Given the description of an element on the screen output the (x, y) to click on. 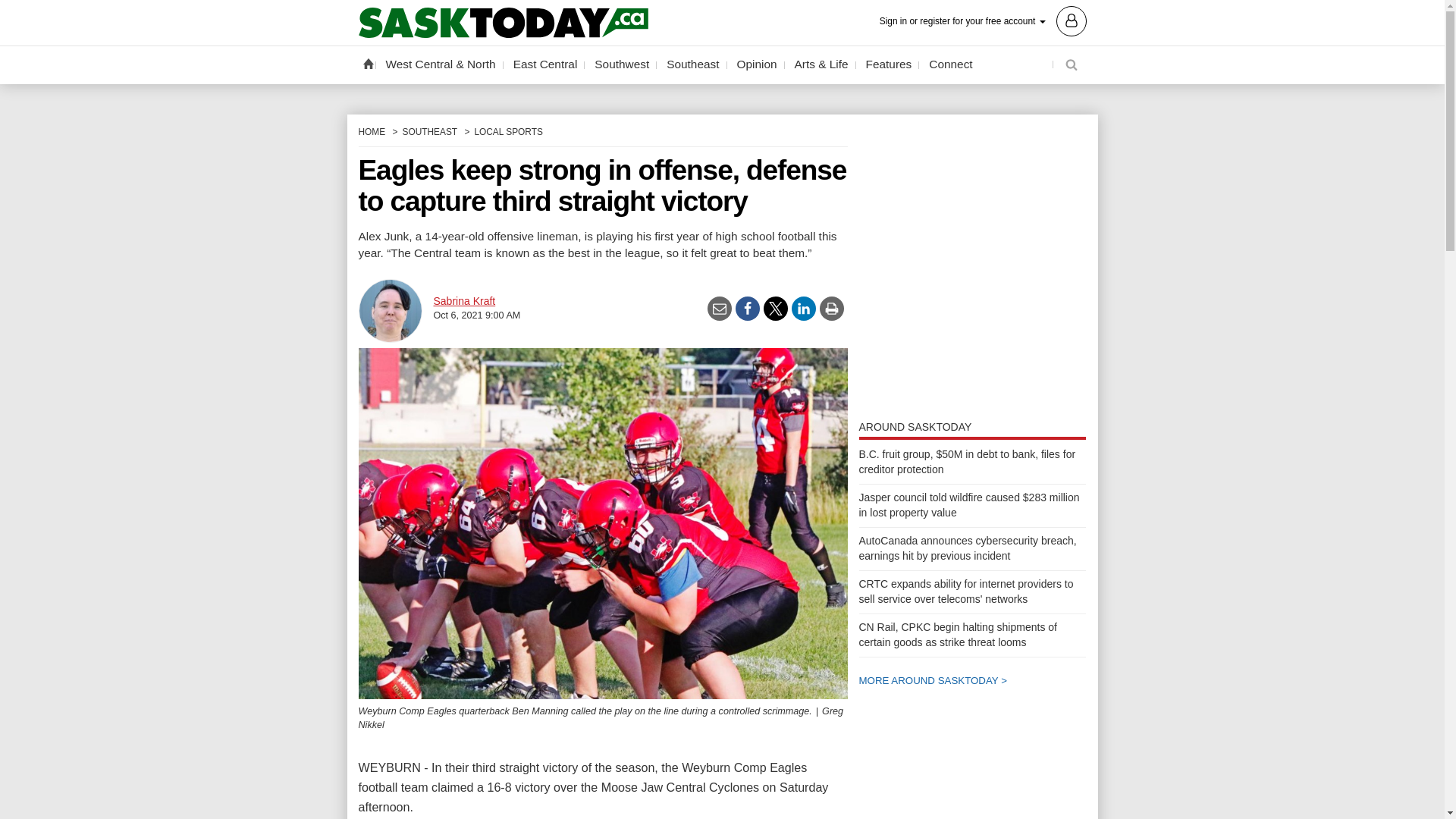
East Central (545, 64)
Southwest (622, 64)
Sign in or register for your free account (982, 20)
Home (367, 63)
